Given the description of an element on the screen output the (x, y) to click on. 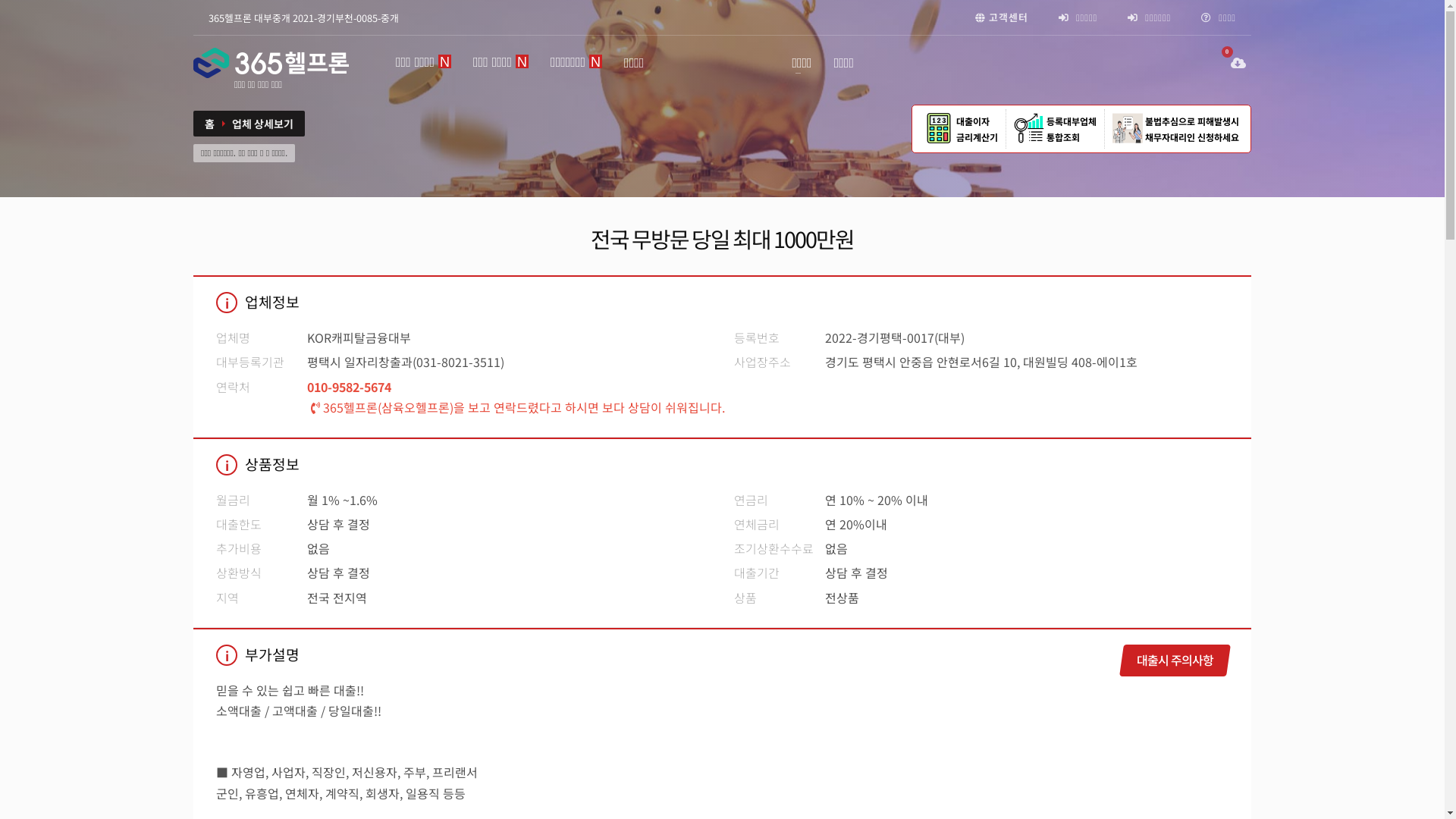
010-9582-5674 Element type: text (352, 386)
